Given the description of an element on the screen output the (x, y) to click on. 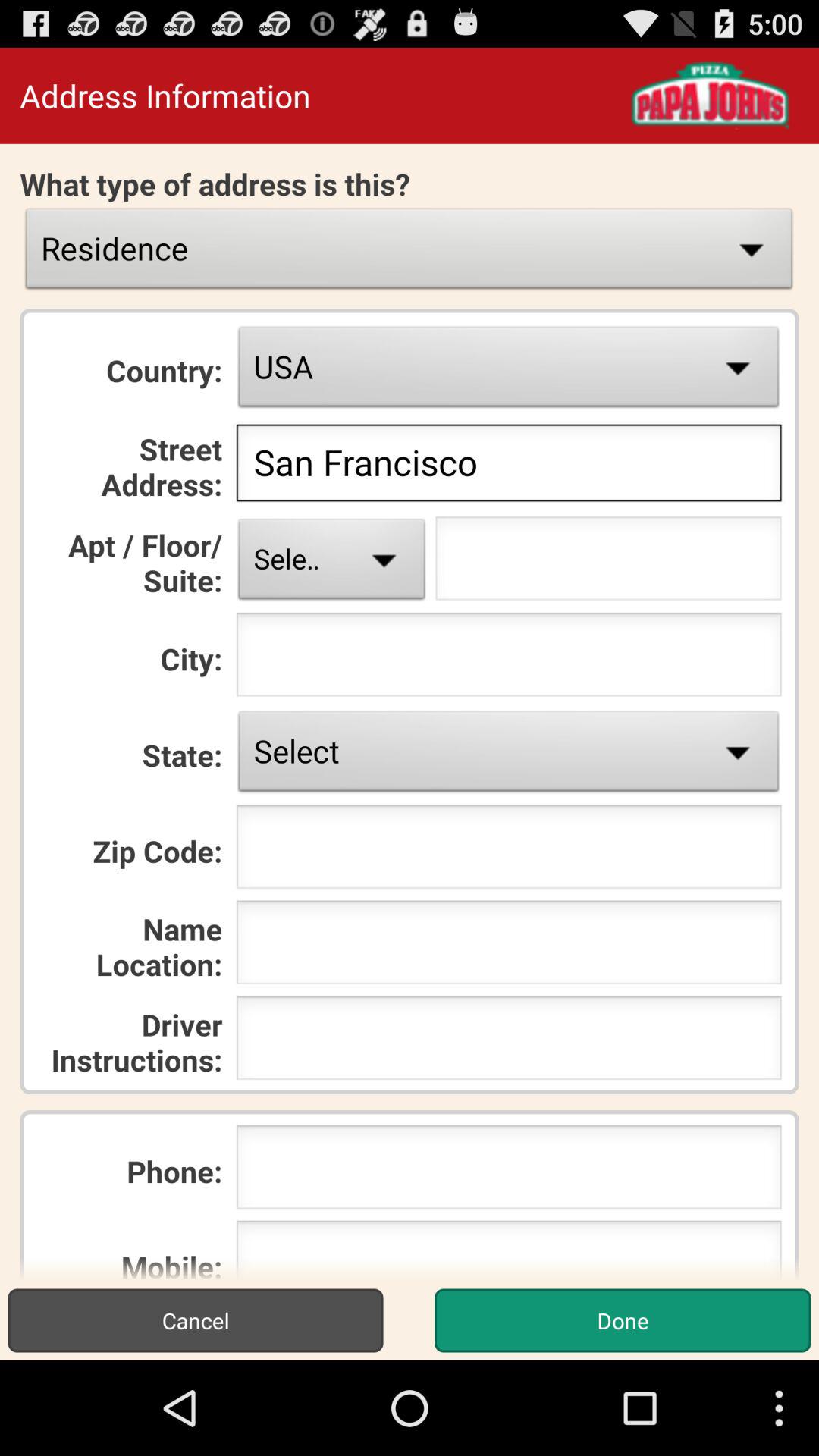
form boxes filling to relevant text (608, 562)
